Given the description of an element on the screen output the (x, y) to click on. 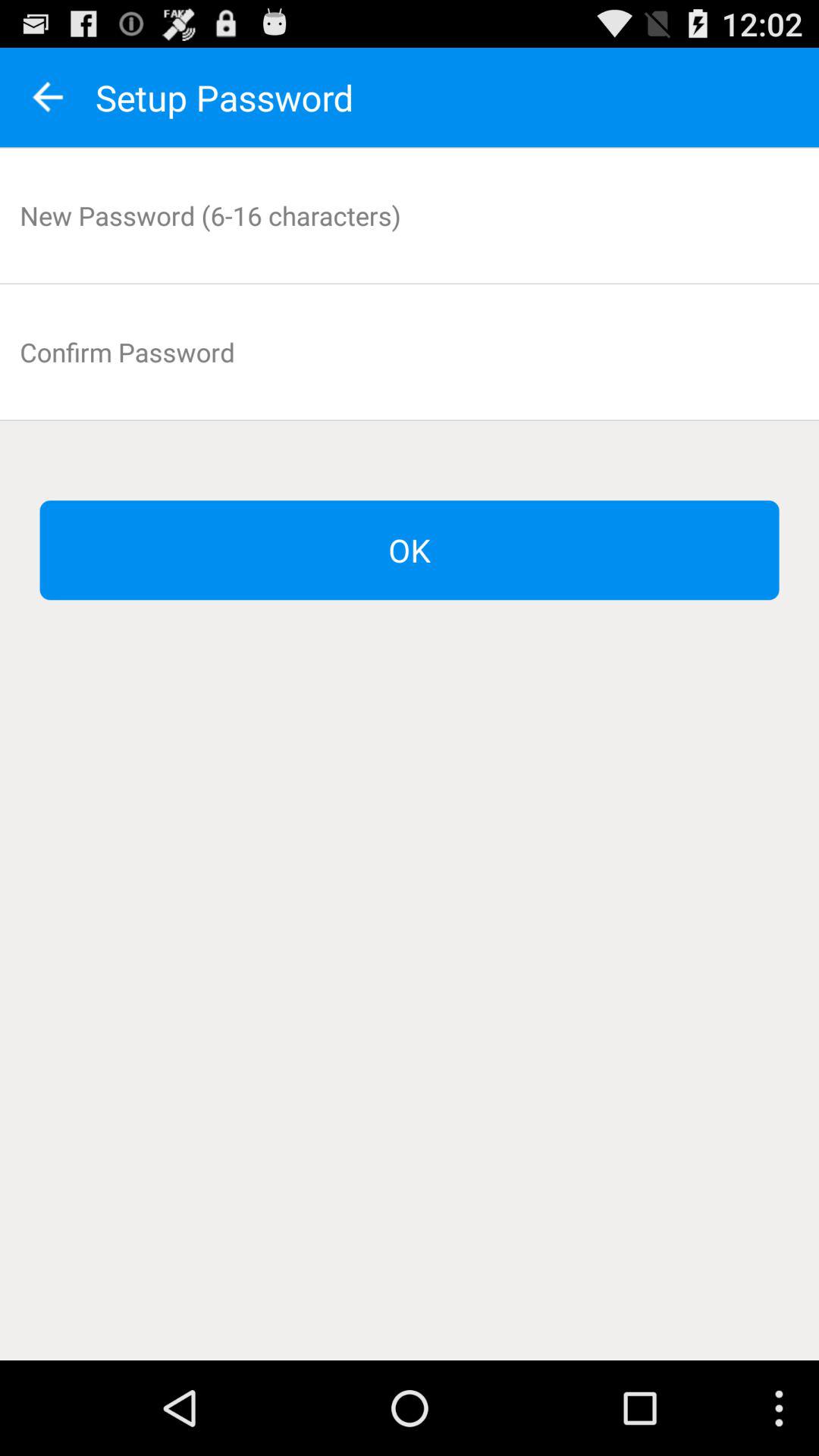
insert password (409, 215)
